Given the description of an element on the screen output the (x, y) to click on. 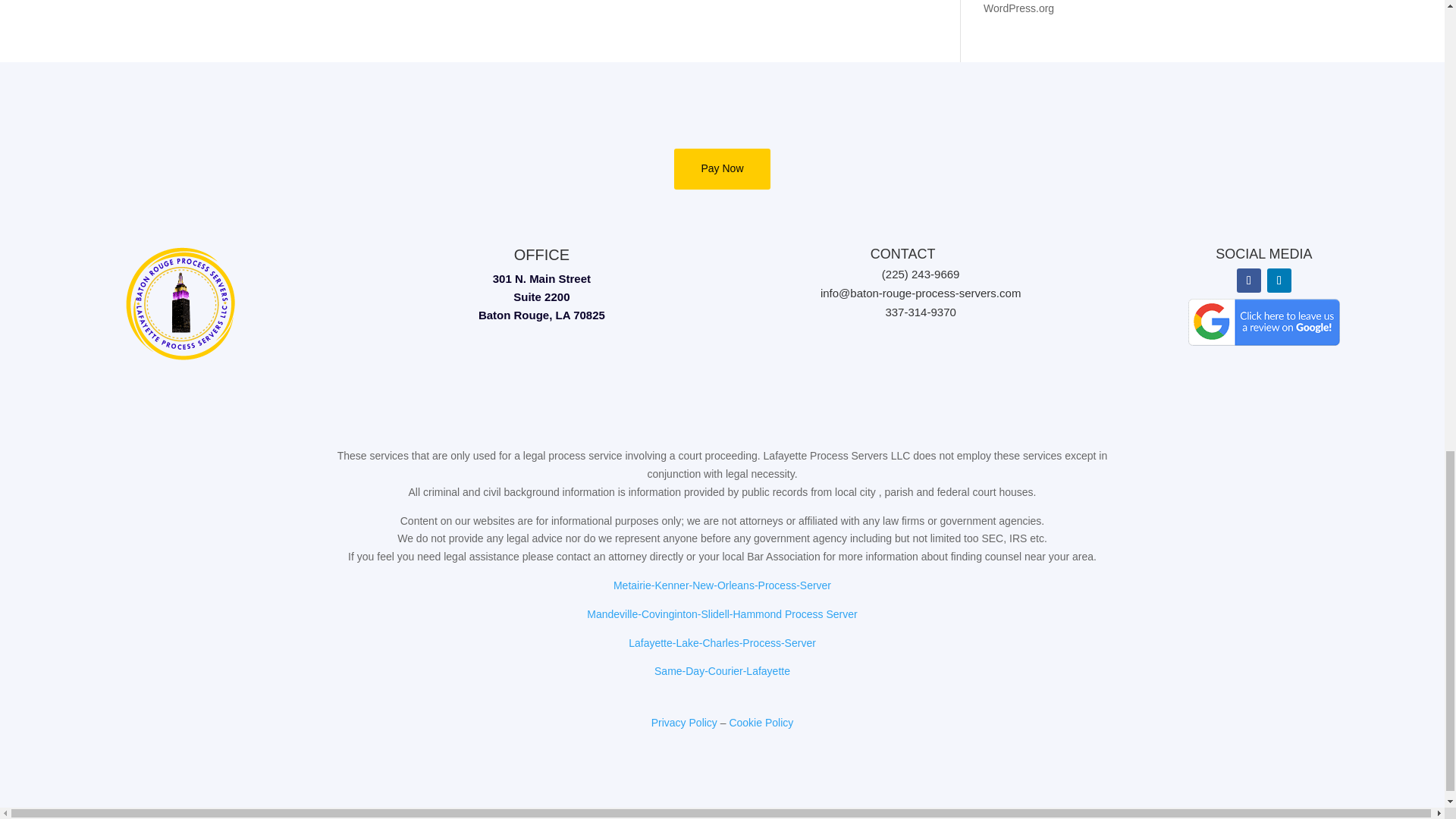
Follow on Facebook (1248, 280)
Follow on LinkedIn (1278, 280)
review-us-on-google-website-button (1263, 321)
